Given the description of an element on the screen output the (x, y) to click on. 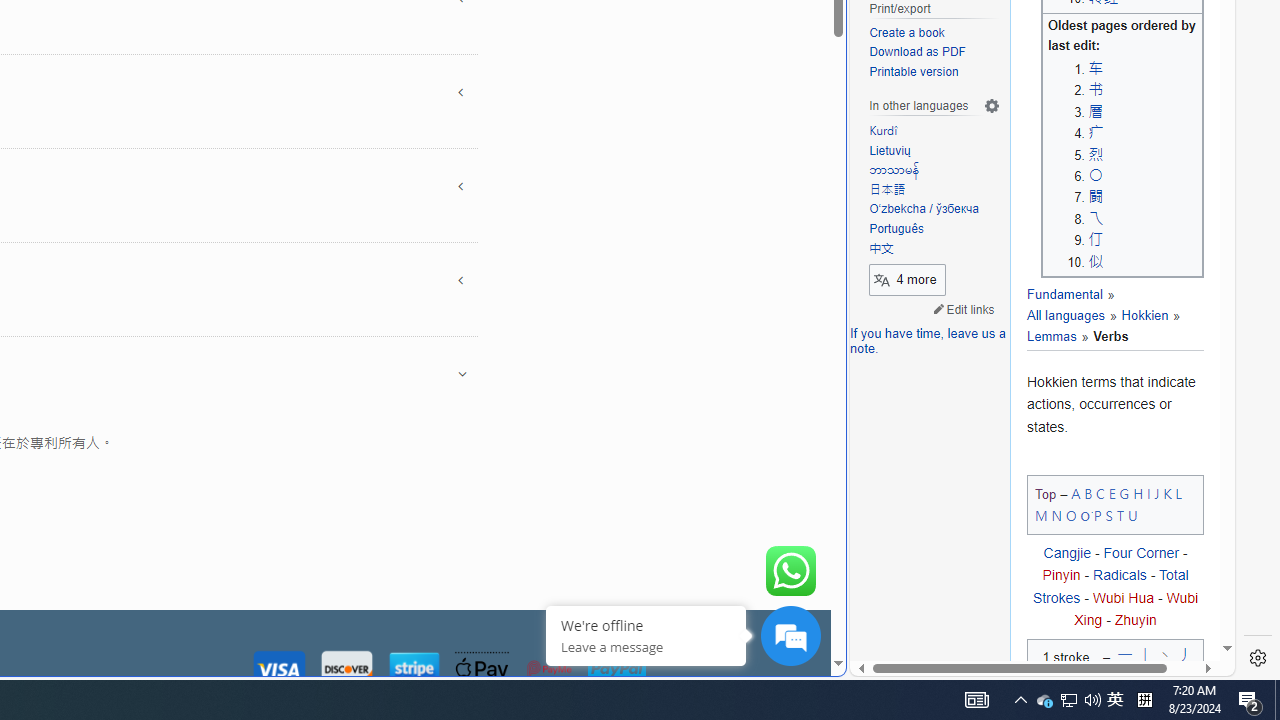
Lemmas (1103, 326)
S (1108, 515)
M (1041, 515)
All languages (1071, 305)
A (1076, 492)
